Given the description of an element on the screen output the (x, y) to click on. 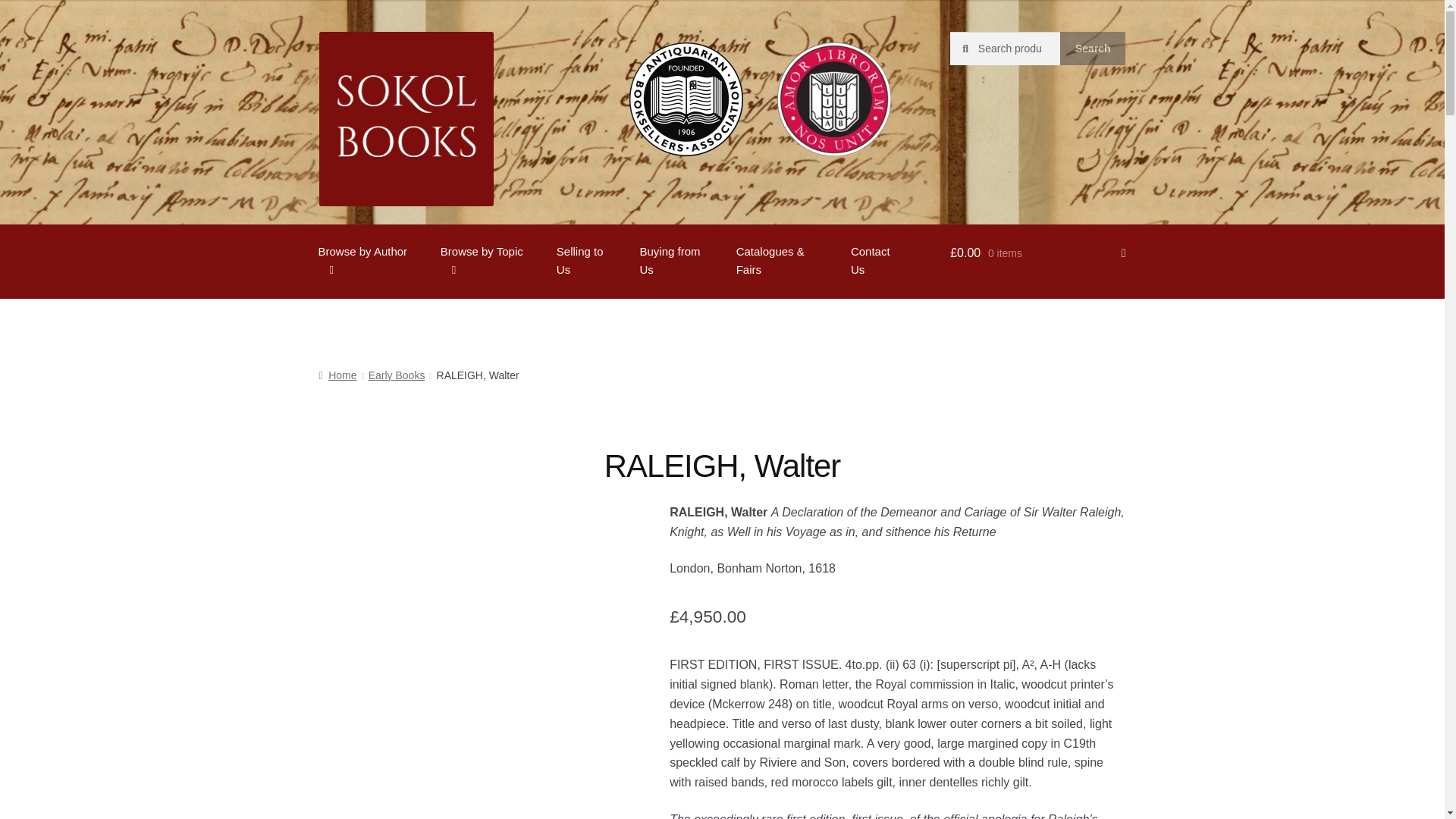
Browse by Author (368, 261)
View your shopping list (1037, 253)
Search (1092, 48)
